Given the description of an element on the screen output the (x, y) to click on. 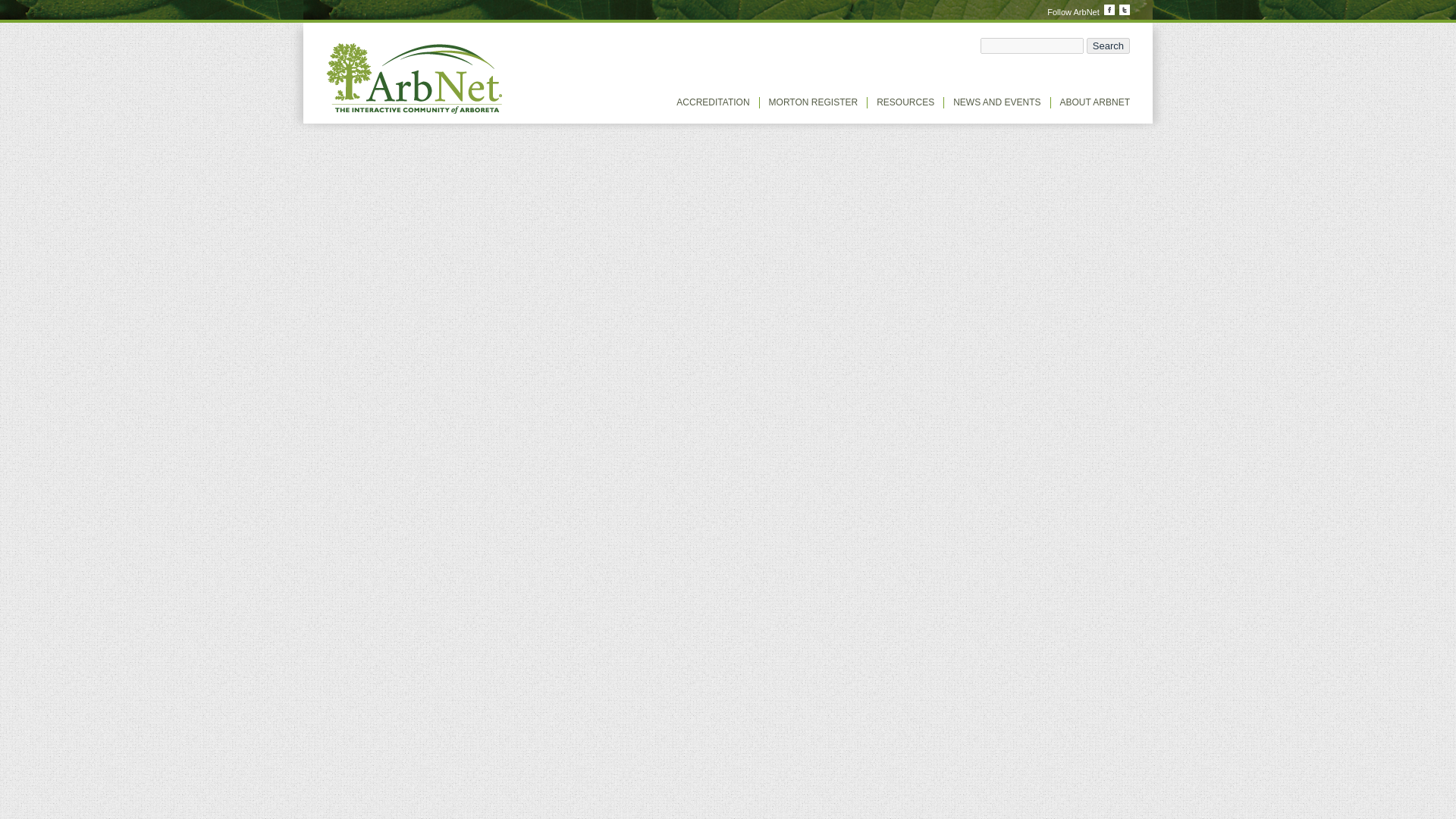
Learn about the history, mission and services (1094, 102)
ABOUT ARBNET (1094, 102)
Accreditation (713, 102)
MORTON REGISTER (813, 102)
ACCREDITATION (713, 102)
Search (1107, 45)
Landing page to register (813, 102)
Search (1107, 45)
RESOURCES (905, 102)
